Given the description of an element on the screen output the (x, y) to click on. 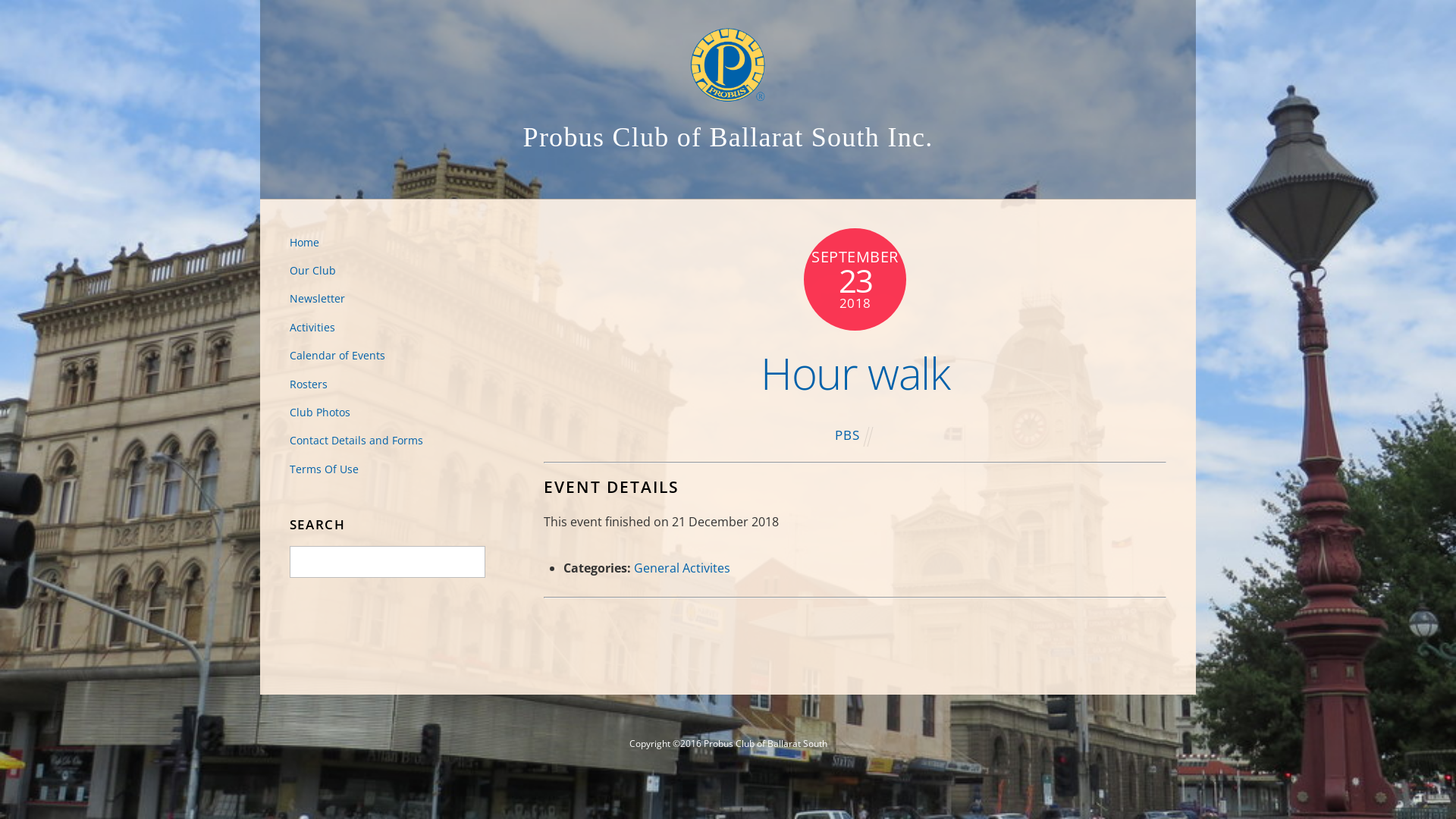
Home Element type: text (304, 242)
Club Photos Element type: text (319, 411)
PBS Element type: text (846, 434)
Calendar of Events Element type: text (337, 355)
Rosters Element type: text (308, 383)
General Activites Element type: text (681, 567)
Contact Details and Forms Element type: text (356, 440)
Probus Club of Ballarat South Element type: hover (727, 65)
Newsletter Element type: text (317, 298)
Our Club Element type: text (312, 270)
Terms Of Use Element type: text (323, 468)
Probus Club of Ballarat South Element type: hover (727, 90)
Search Element type: hover (387, 561)
Activities Element type: text (312, 327)
Hour walk Element type: text (854, 372)
